Given the description of an element on the screen output the (x, y) to click on. 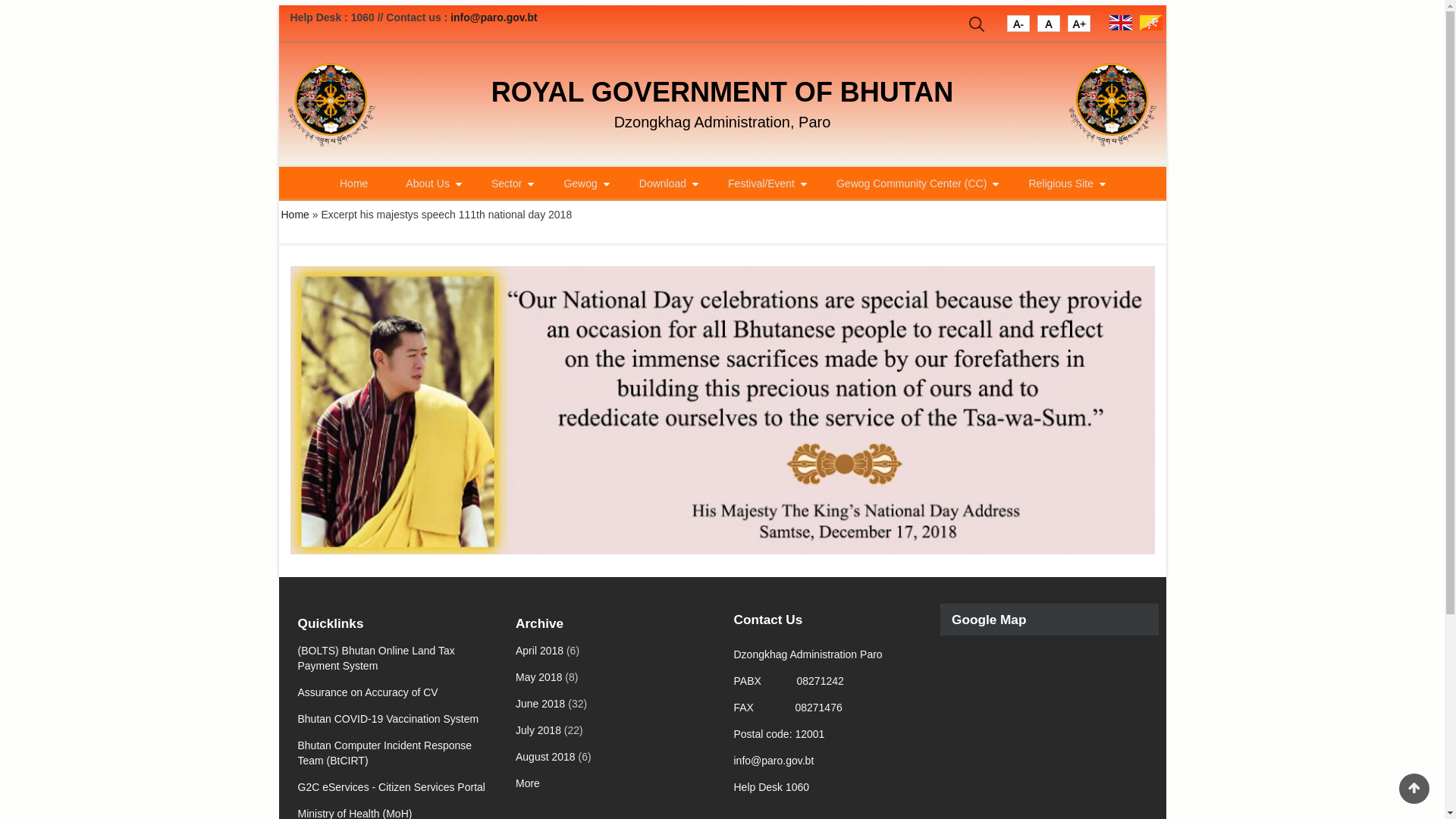
Festival/Event Element type: text (762, 183)
More Element type: text (527, 783)
Religious Site Element type: text (1062, 183)
Home Element type: hover (331, 104)
April 2018 Element type: text (539, 650)
About Us Element type: text (429, 183)
Sector Element type: text (508, 183)
Home Element type: hover (1112, 104)
Gewog Element type: text (581, 183)
Back to Top Element type: hover (1414, 788)
A Element type: text (1078, 26)
(BOLTS) Bhutan Online Land Tax Payment System Element type: text (375, 657)
A Element type: text (1018, 26)
July 2018 Element type: text (538, 730)
August 2018 Element type: text (545, 756)
ROYAL GOVERNMENT OF BHUTAN Element type: text (722, 91)
Home Element type: text (294, 214)
Search Element type: text (976, 26)
June 2018 Element type: text (539, 703)
Bhutan Computer Incident Response Team (BtCIRT) Element type: text (384, 752)
A Element type: text (1048, 26)
info@paro.gov.bt Element type: text (493, 17)
Skip to main content Element type: text (0, 0)
G2C eServices - Citizen Services Portal Element type: text (390, 787)
Home Element type: text (353, 183)
Download Element type: text (664, 183)
Gewog Community Center (CC) Element type: text (913, 183)
Assurance on Accuracy of CV Element type: text (367, 692)
Bhutan COVID-19 Vaccination System Element type: text (387, 718)
May 2018 Element type: text (538, 677)
